Given the description of an element on the screen output the (x, y) to click on. 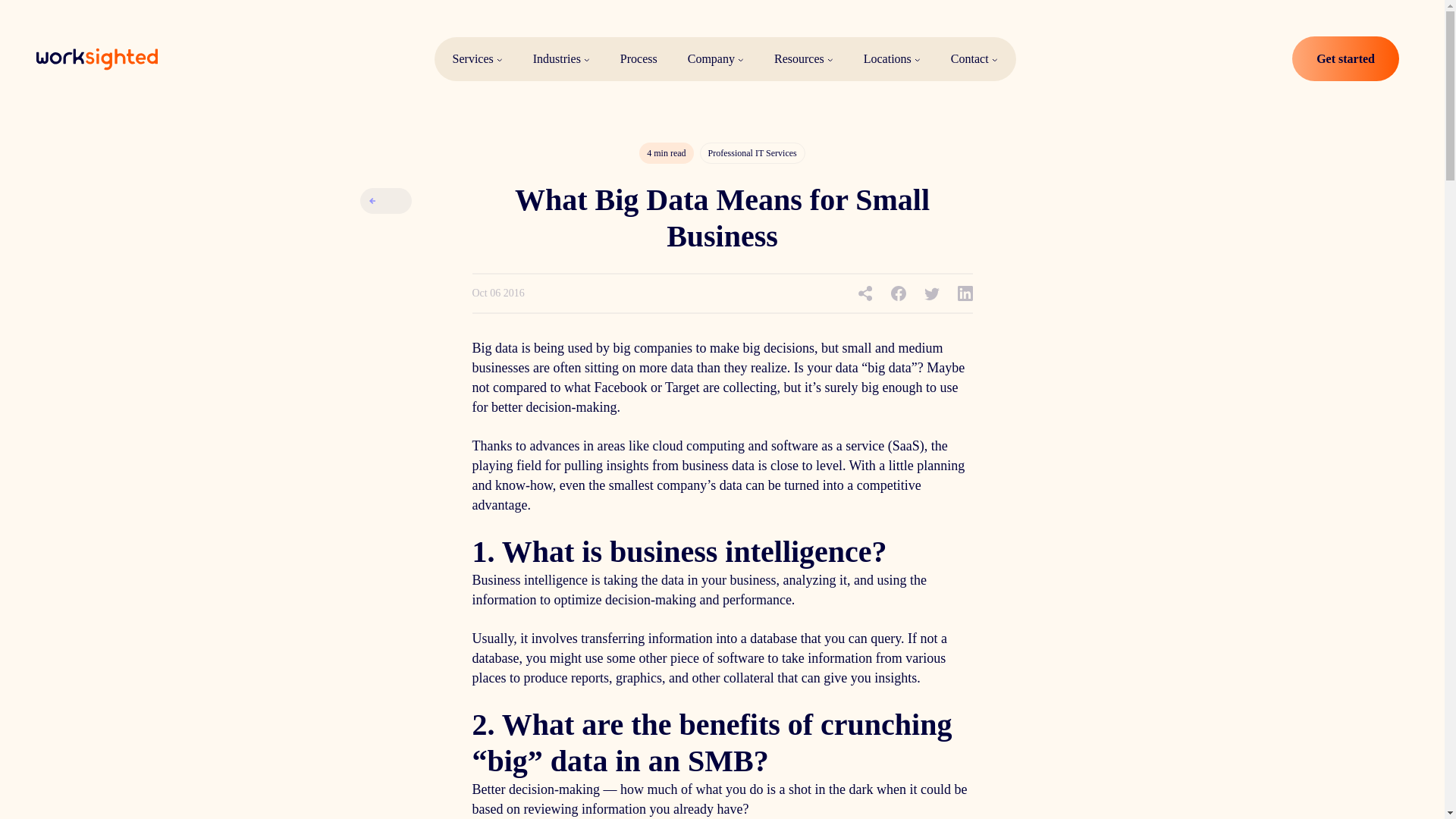
Contact (973, 59)
Industries (560, 59)
Locations (891, 59)
Company (716, 59)
Services (477, 59)
Resources (803, 59)
Get started (1345, 58)
Process (638, 59)
